Given the description of an element on the screen output the (x, y) to click on. 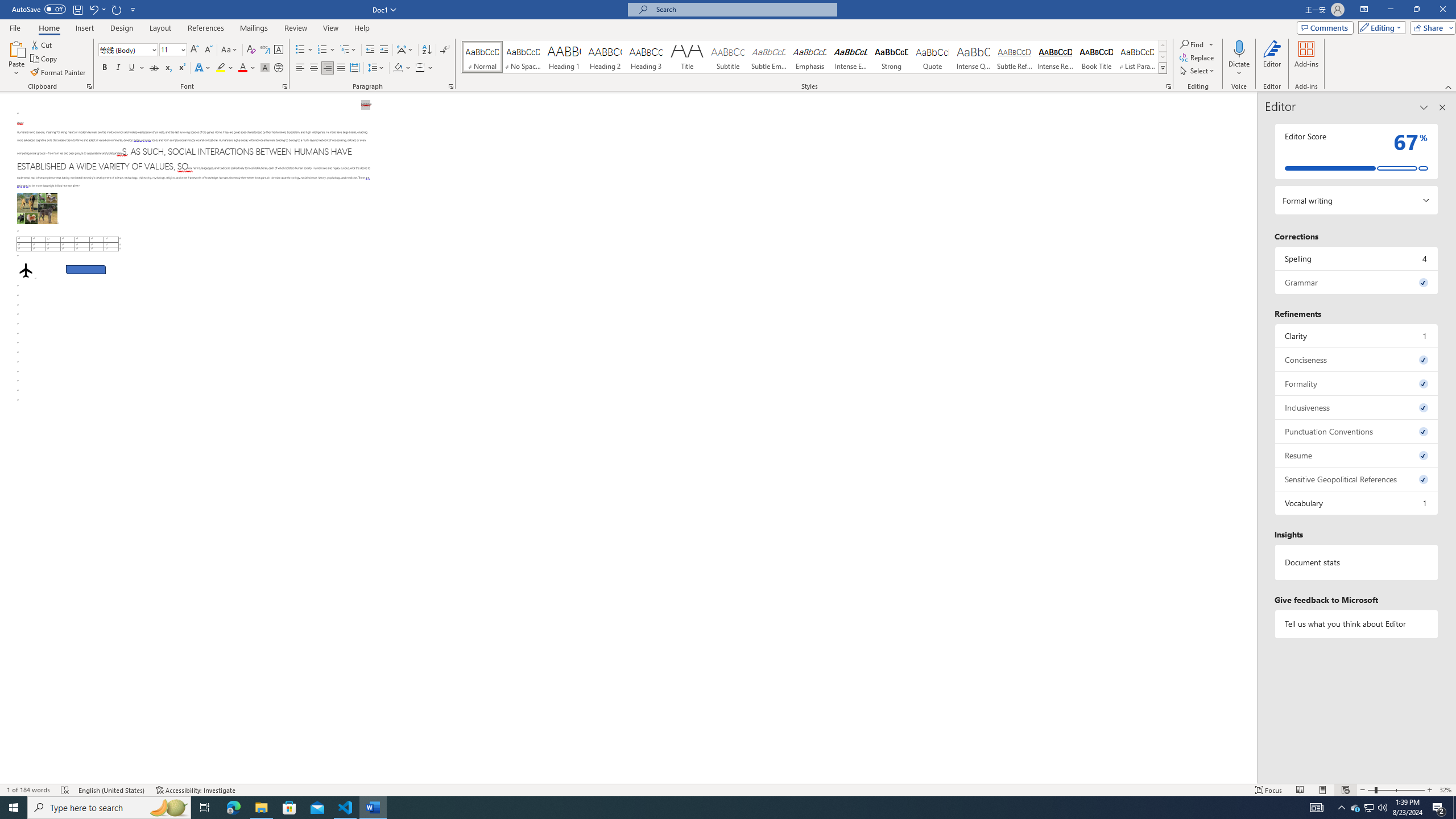
Formality, 0 issues. Press space or enter to review items. (1356, 383)
Subtle Reference (1014, 56)
